Given the description of an element on the screen output the (x, y) to click on. 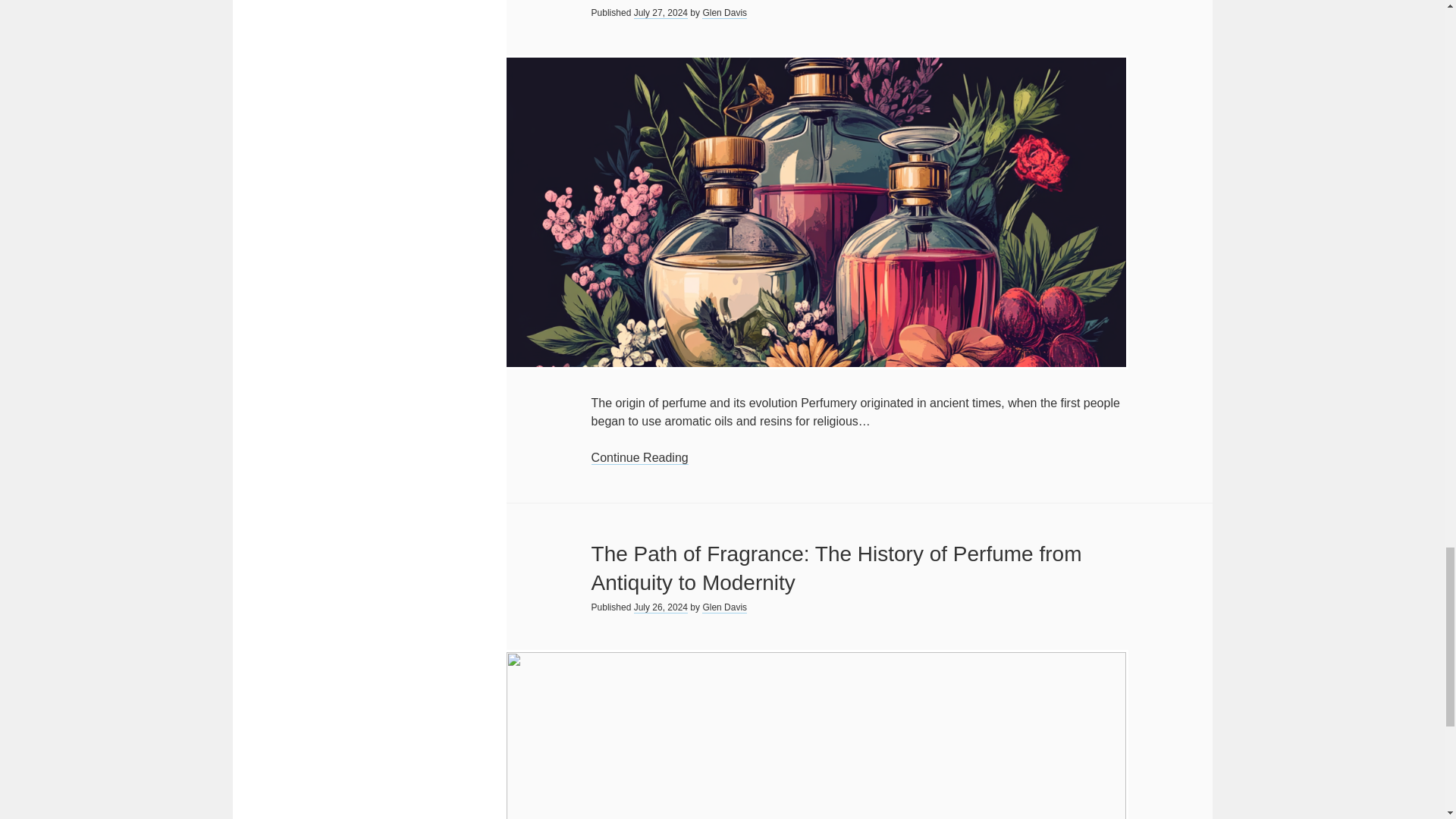
July 26, 2024 (660, 607)
July 27, 2024 (660, 12)
Glen Davis (723, 12)
Glen Davis (723, 607)
